Given the description of an element on the screen output the (x, y) to click on. 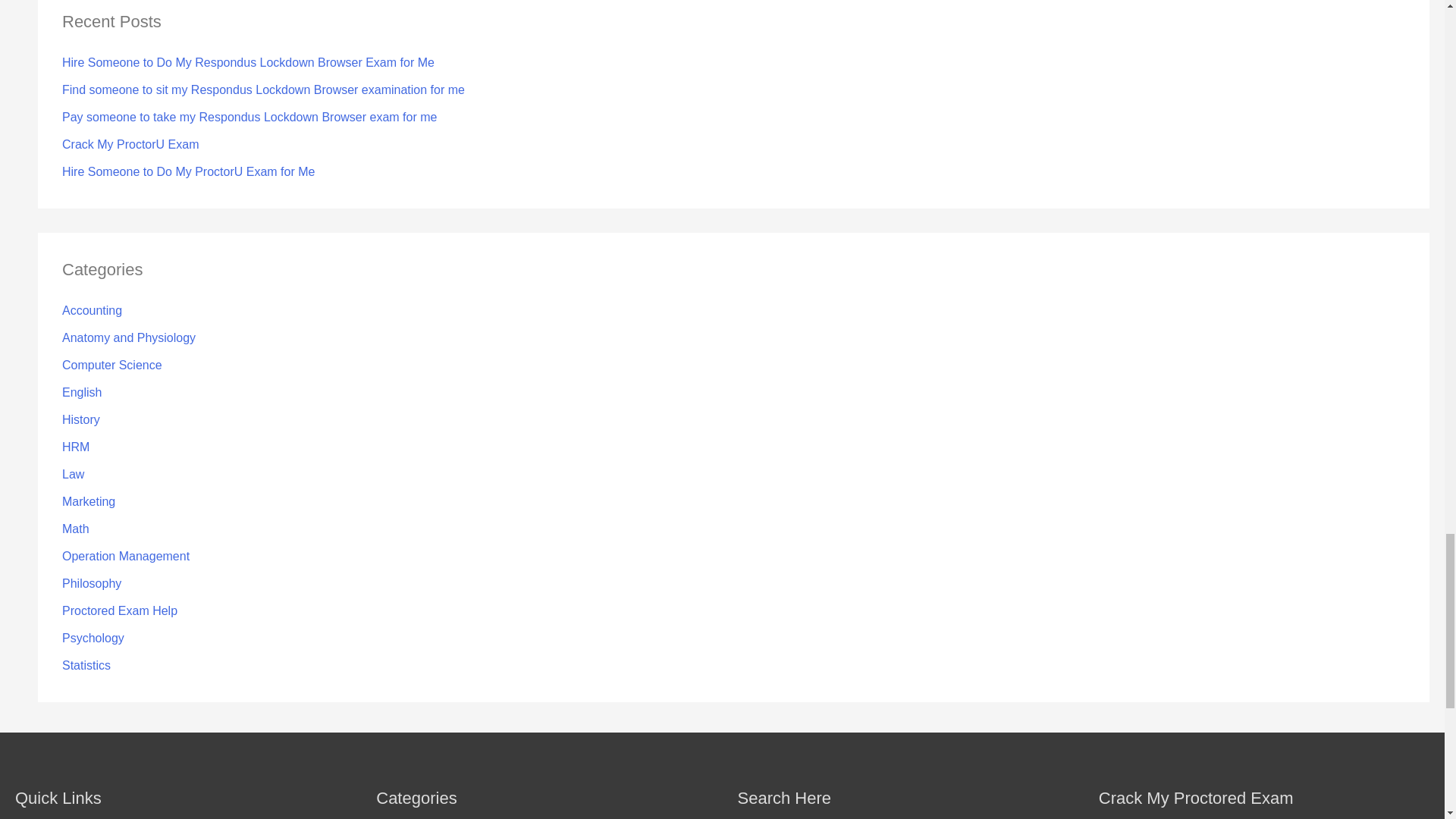
Accounting (92, 309)
Hire Someone to Do My Respondus Lockdown Browser Exam for Me (247, 62)
Hire Someone to Do My ProctorU Exam for Me (188, 171)
Anatomy and Physiology (128, 337)
Crack My ProctorU Exam (130, 144)
English (81, 391)
Computer Science (111, 364)
